Given the description of an element on the screen output the (x, y) to click on. 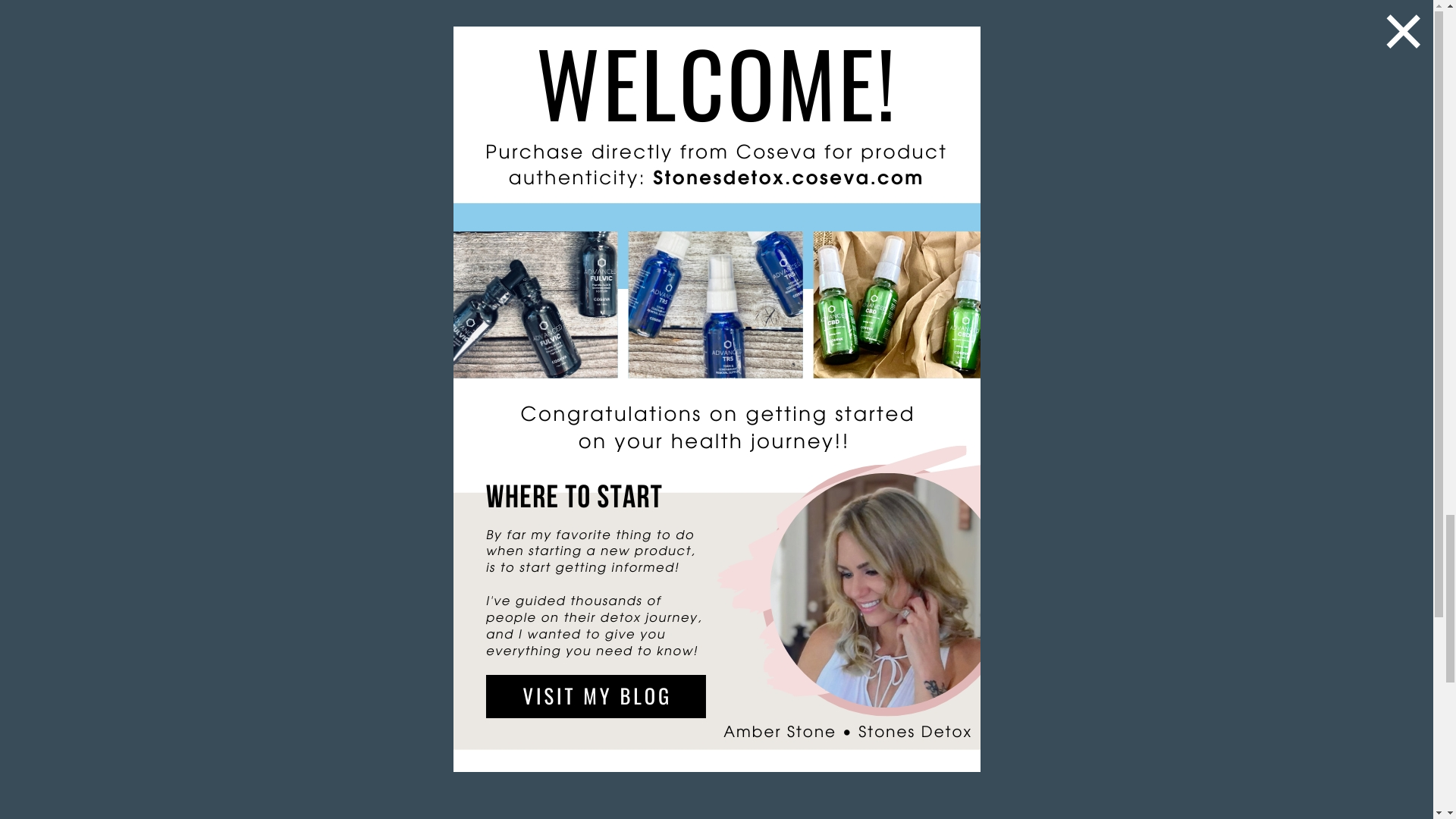
Advanced fulvic (472, 115)
fulvic acid (375, 5)
SEE WHAT MY LOVELY CUSTOMERS ARE SAYING (584, 568)
